Given the description of an element on the screen output the (x, y) to click on. 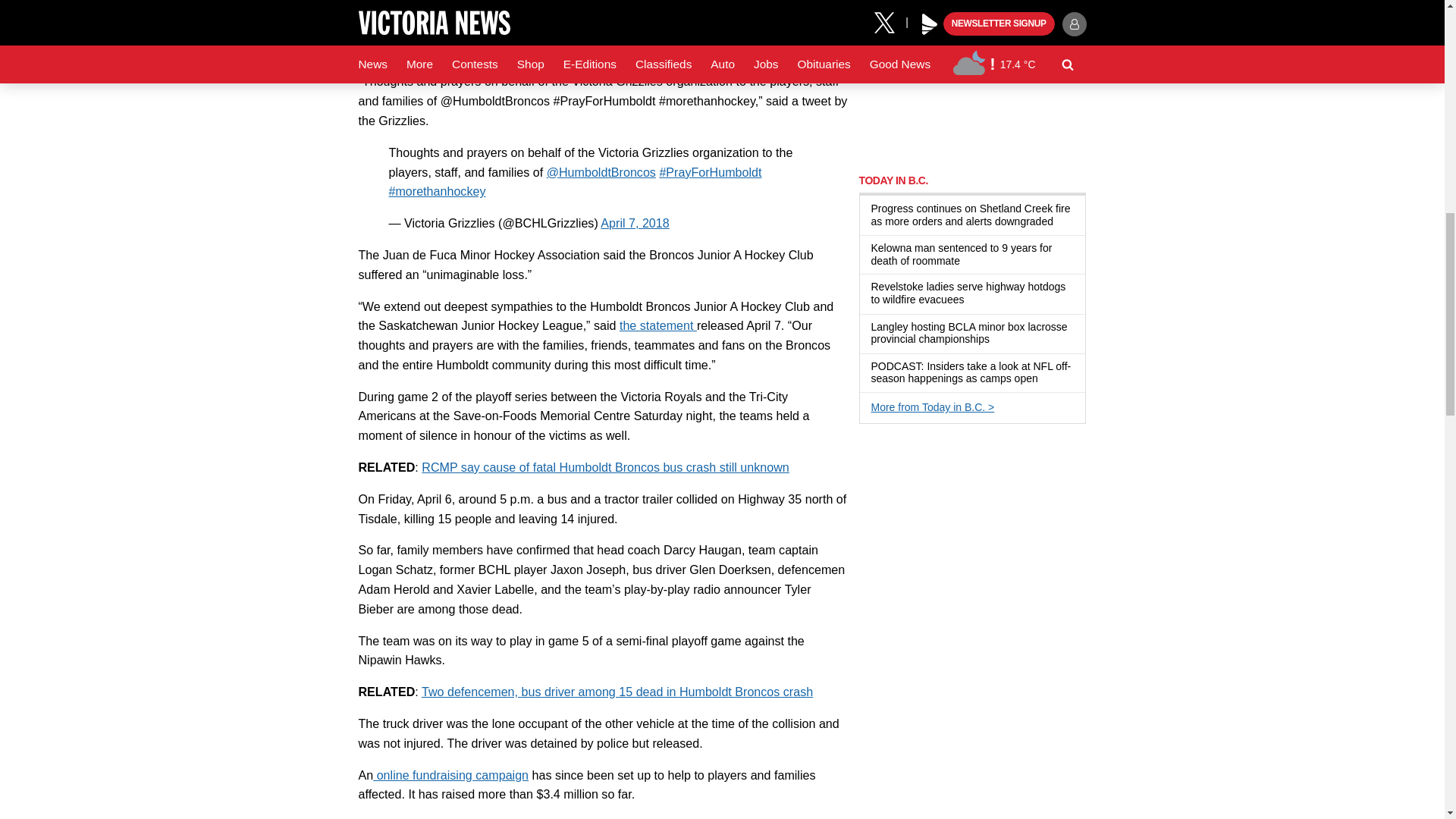
Has a gallery (998, 340)
Has a gallery (972, 300)
